Given the description of an element on the screen output the (x, y) to click on. 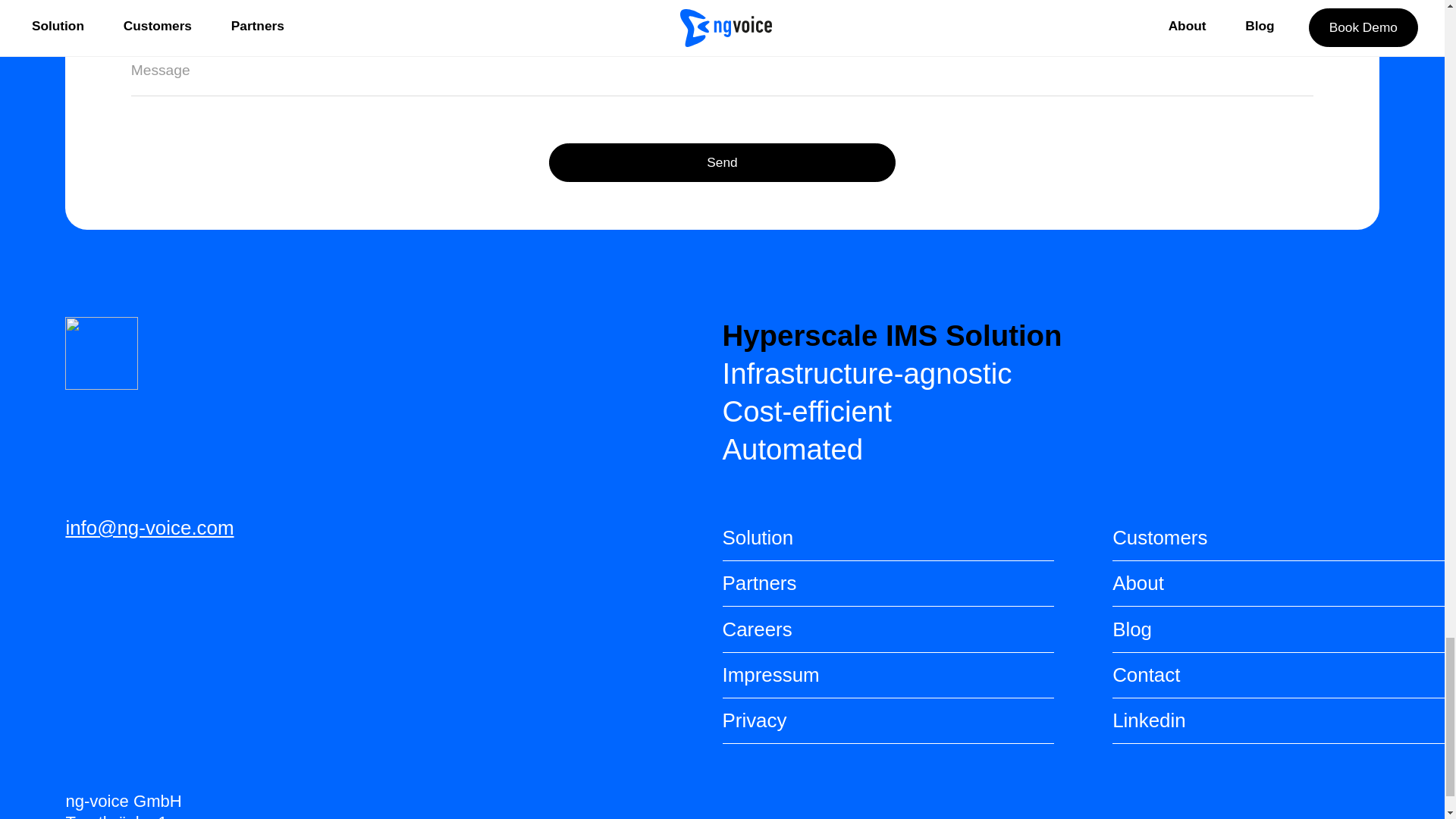
Solution (888, 538)
Impressum (888, 675)
Send (721, 162)
Send (721, 162)
Privacy (888, 720)
Partners (888, 583)
Careers (888, 628)
